Given the description of an element on the screen output the (x, y) to click on. 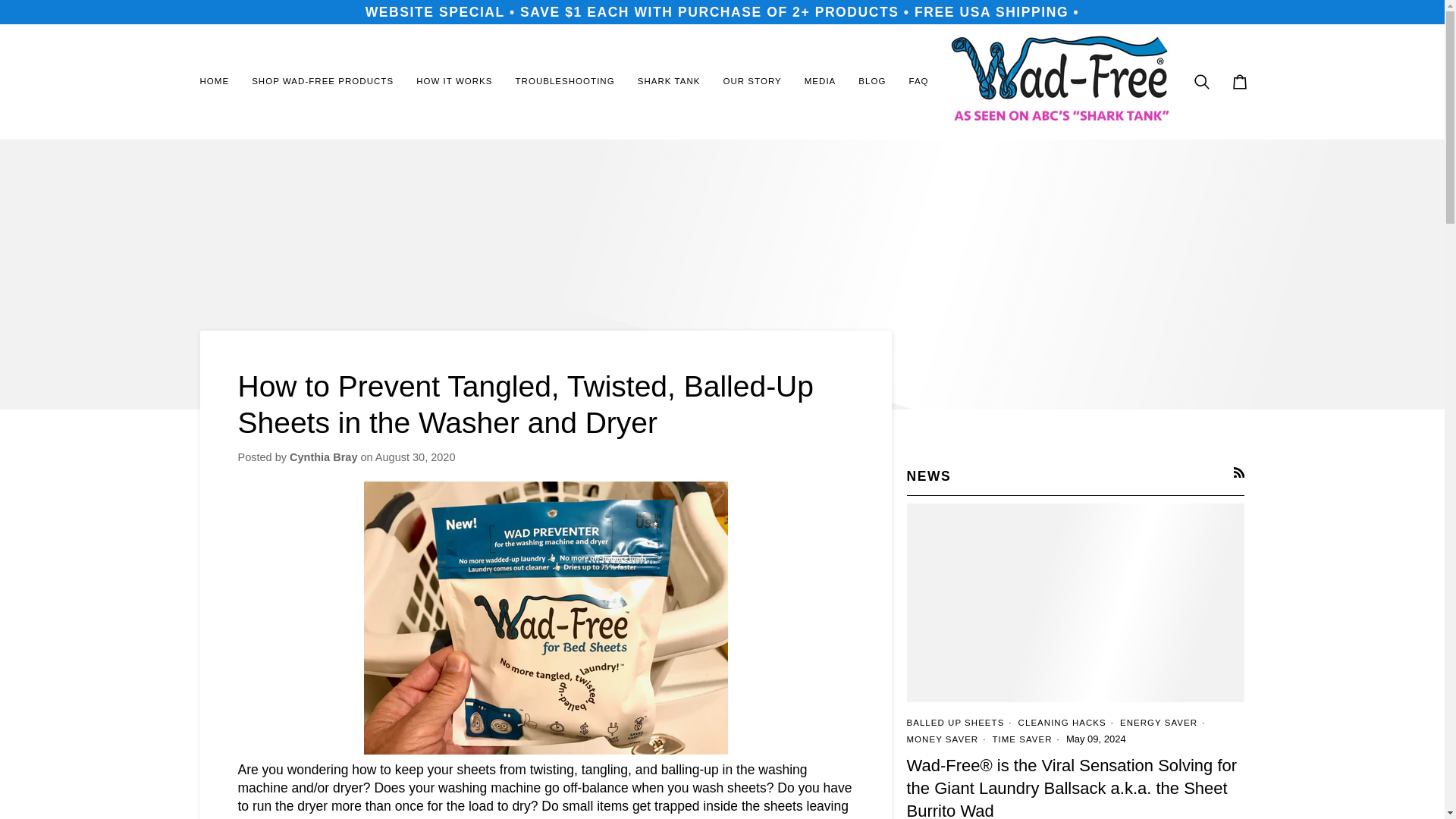
TROUBLESHOOTING (564, 81)
RSS (1238, 472)
SHOP WAD-FREE PRODUCTS (322, 81)
